Given the description of an element on the screen output the (x, y) to click on. 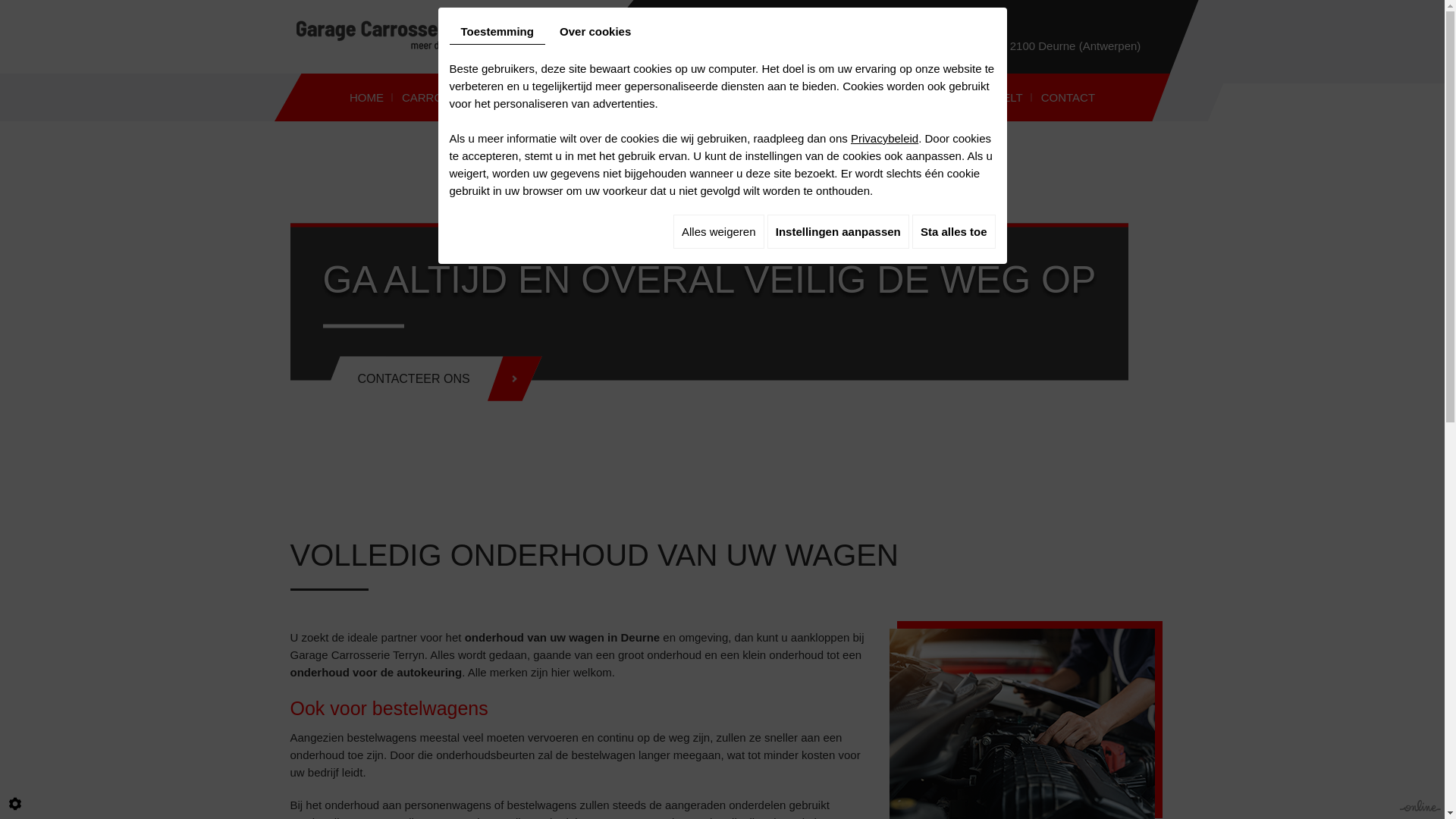
Instellingen aanpassen Element type: text (838, 231)
Alles weigeren Element type: text (718, 231)
HOME Element type: text (366, 97)
UW MENING TELT Element type: text (974, 97)
ONDERHOUD Element type: text (539, 97)
Over cookies Element type: text (595, 30)
OPKUISEN KOPLAMPEN Element type: text (774, 97)
Privacybeleid Element type: text (884, 137)
CONTACTEER ONS Element type: text (432, 378)
HERSTELLINGEN Element type: text (642, 97)
Sta alles toe Element type: text (953, 231)
Garage Carrosserie Terryn - Garage & carrosserie Element type: hover (439, 35)
Toestemming Element type: text (496, 31)
Cookie-instelling bewerken Element type: text (14, 803)
CARROSSERIE Element type: text (442, 97)
GALERIJ Element type: text (883, 97)
CONTACT Element type: text (1068, 97)
